Given the description of an element on the screen output the (x, y) to click on. 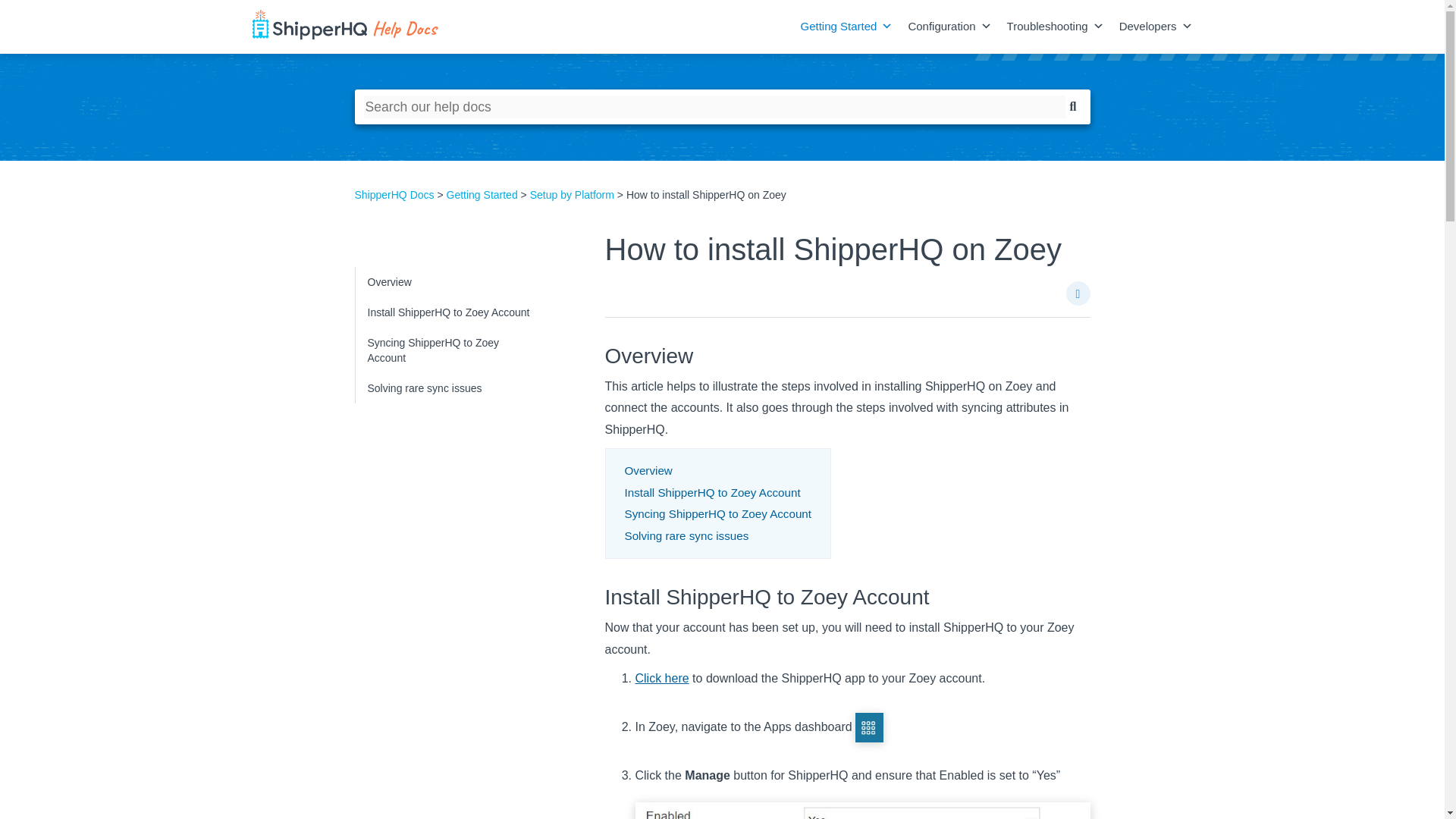
Go to ShipperHQ Docs. (394, 194)
Configuration (941, 26)
Getting Started (838, 26)
Go to the Getting Started Category archives. (482, 194)
ShipperHQ (351, 26)
Go to the Setup by Platform Category archives. (571, 194)
Search for: (714, 106)
